Given the description of an element on the screen output the (x, y) to click on. 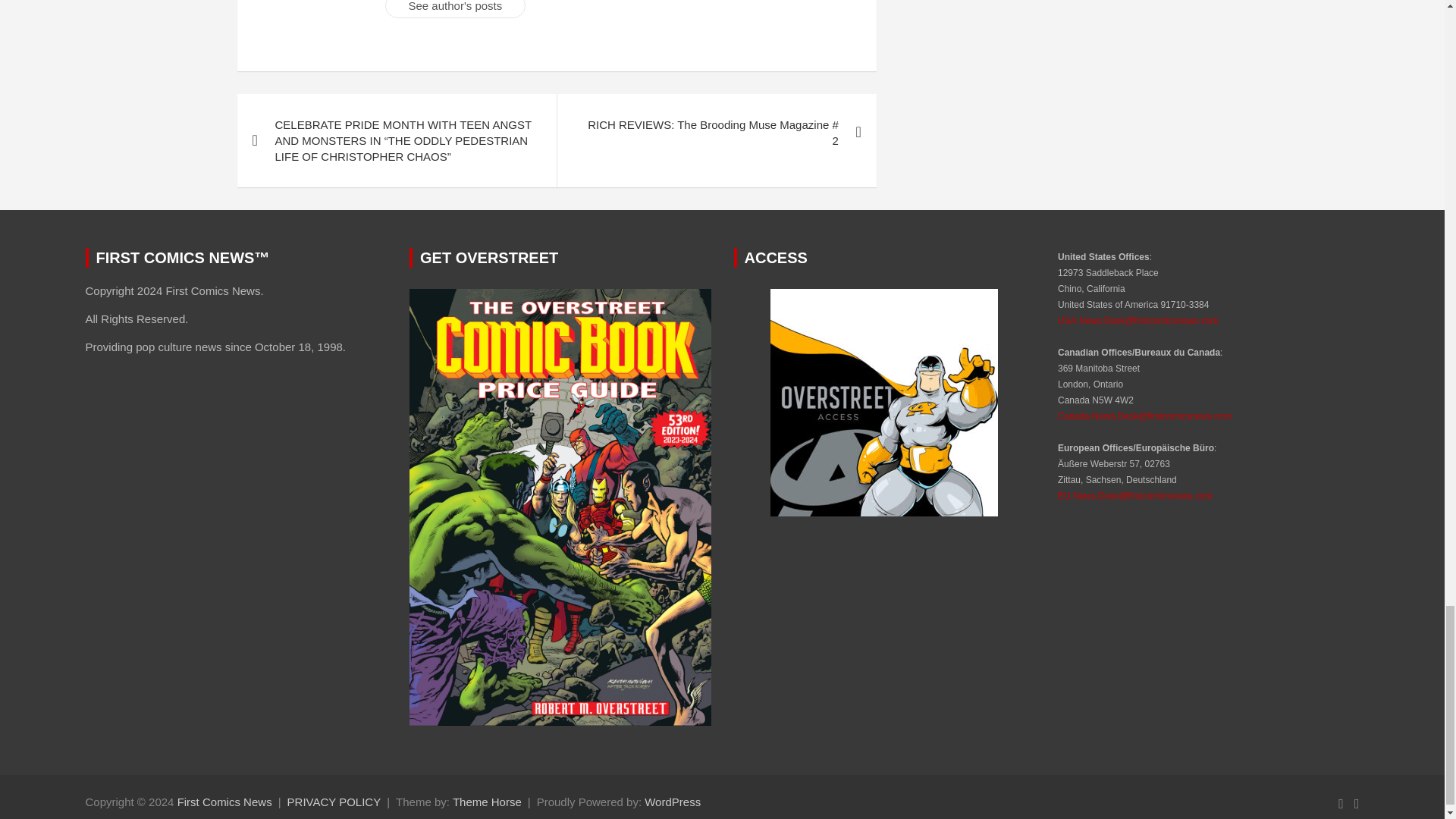
Theme Horse (486, 801)
WordPress (672, 801)
First Comics News (224, 801)
